Given the description of an element on the screen output the (x, y) to click on. 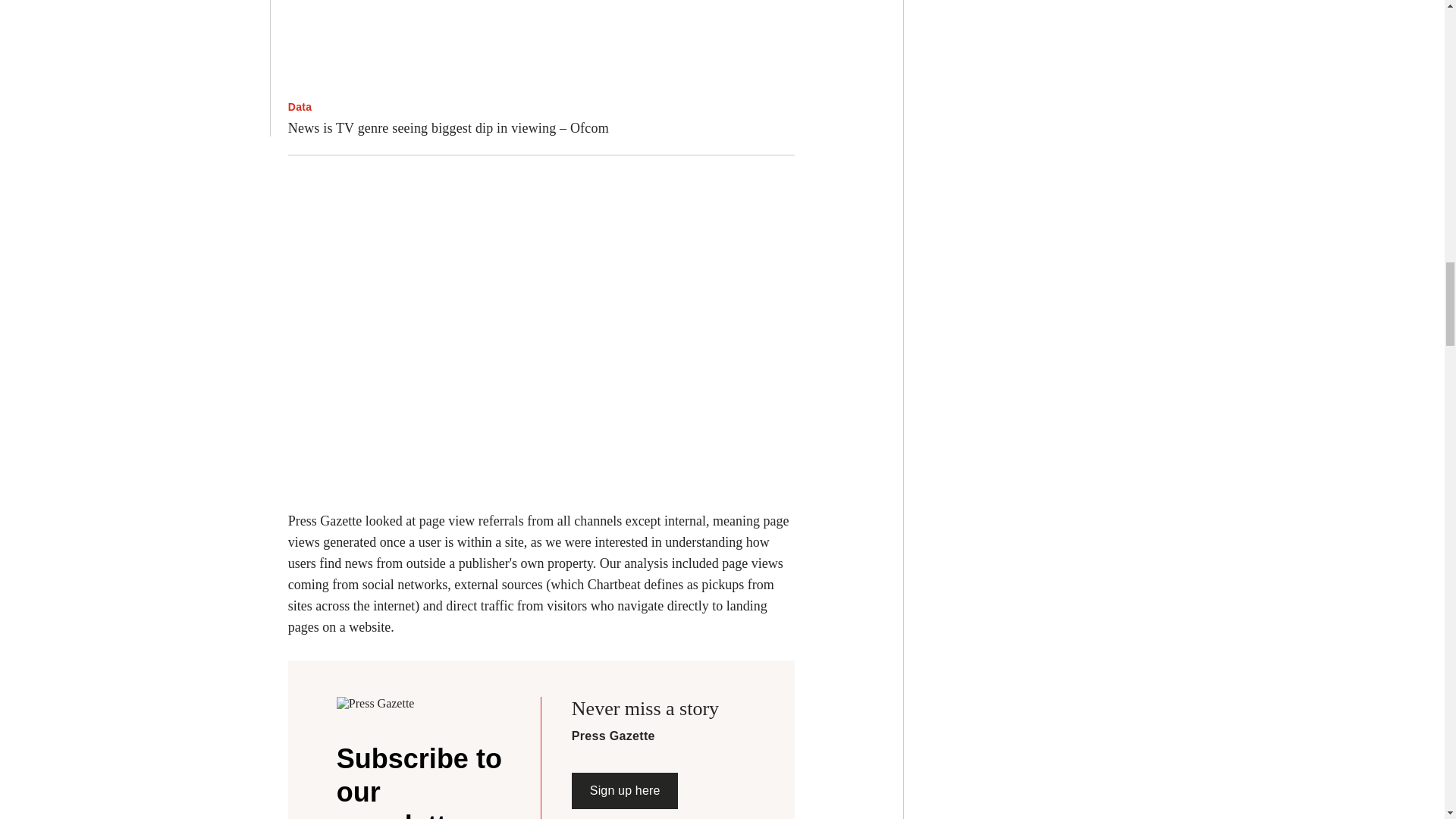
News is TV genre seeing biggest dip in viewing - Ofcom (541, 46)
Press Gazette  (387, 703)
